Given the description of an element on the screen output the (x, y) to click on. 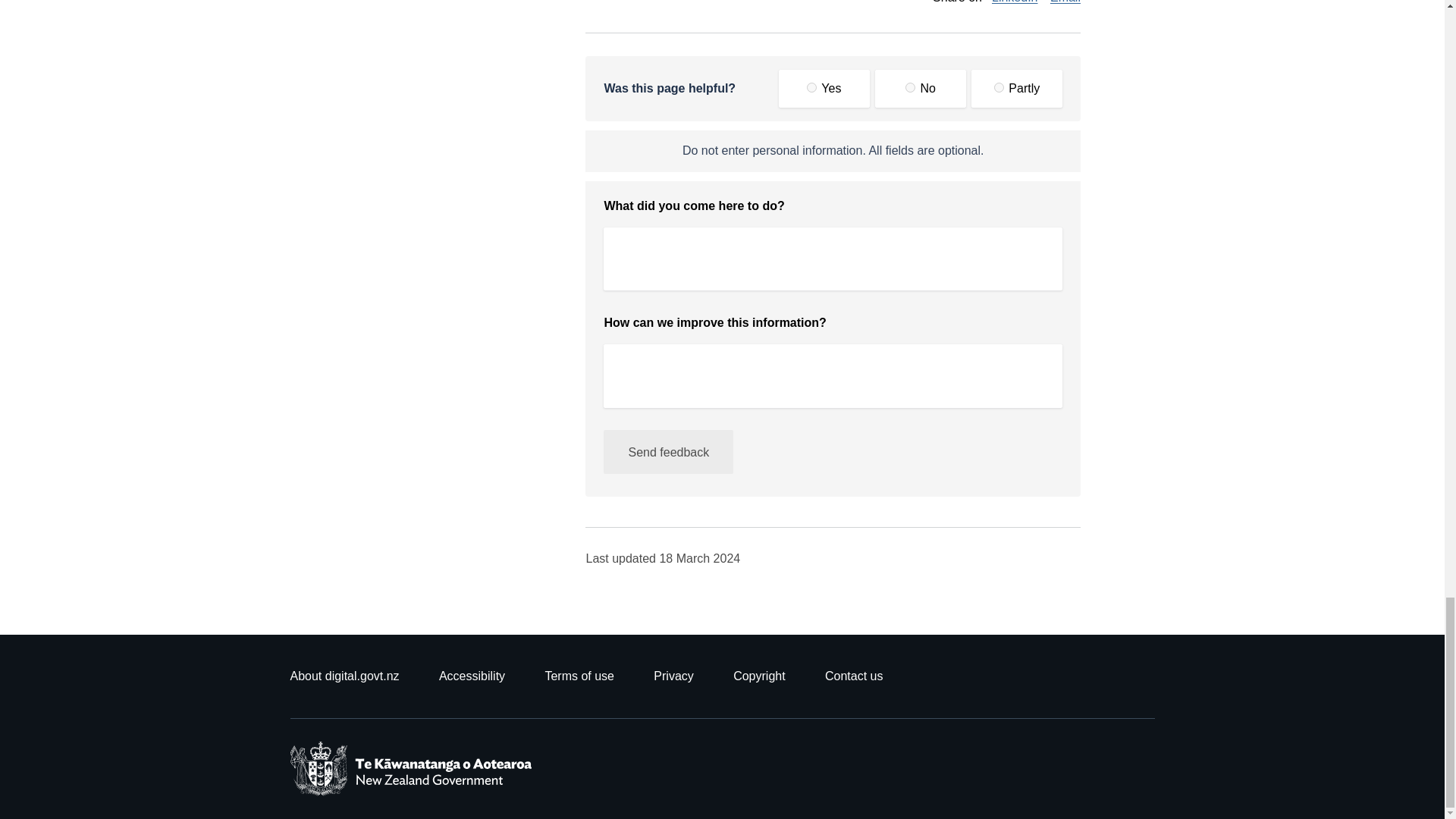
Yes (811, 87)
Send feedback (668, 451)
Partly (999, 87)
No (910, 87)
